Given the description of an element on the screen output the (x, y) to click on. 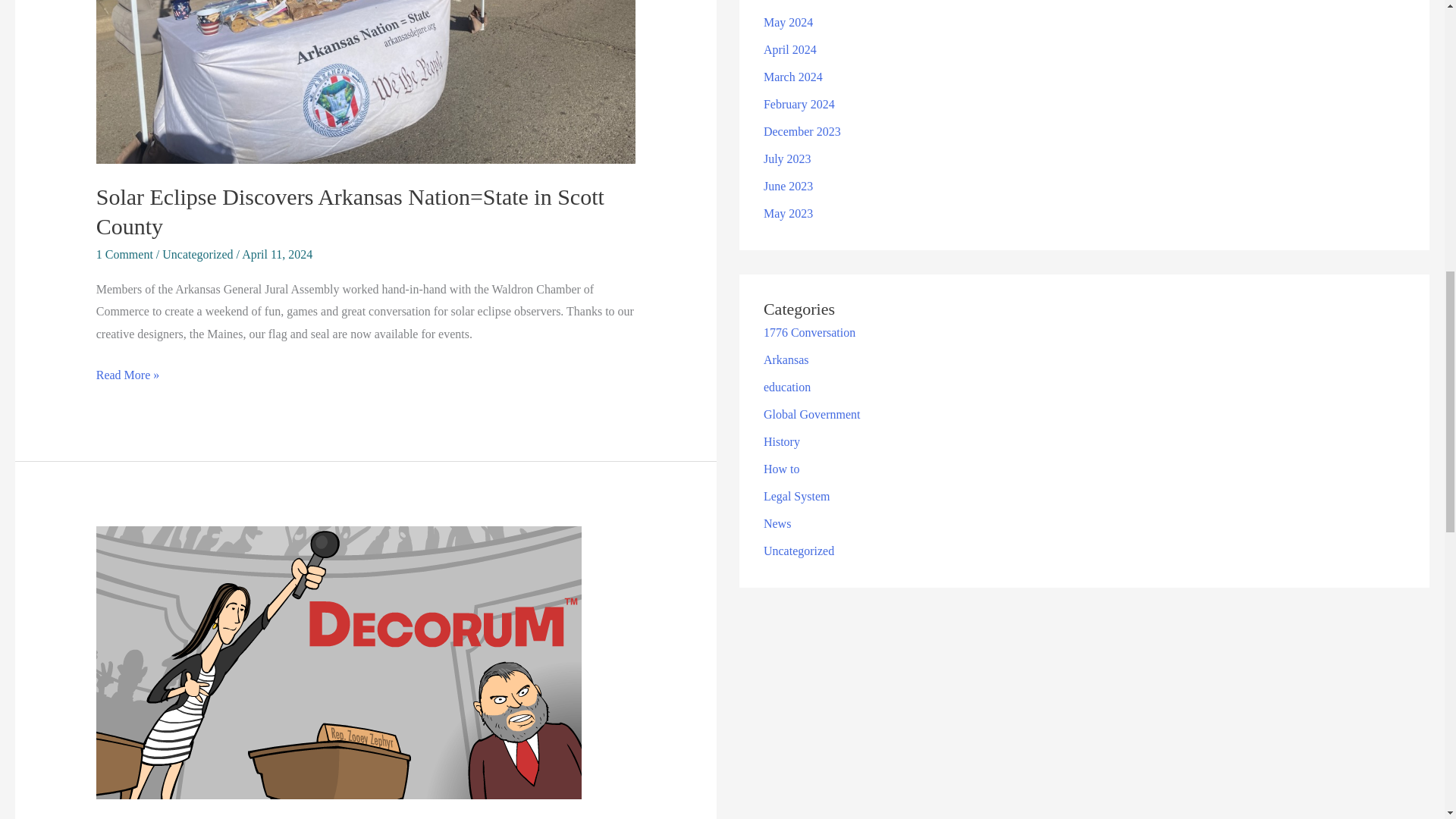
1 Comment (124, 254)
Uncategorized (196, 254)
